Given the description of an element on the screen output the (x, y) to click on. 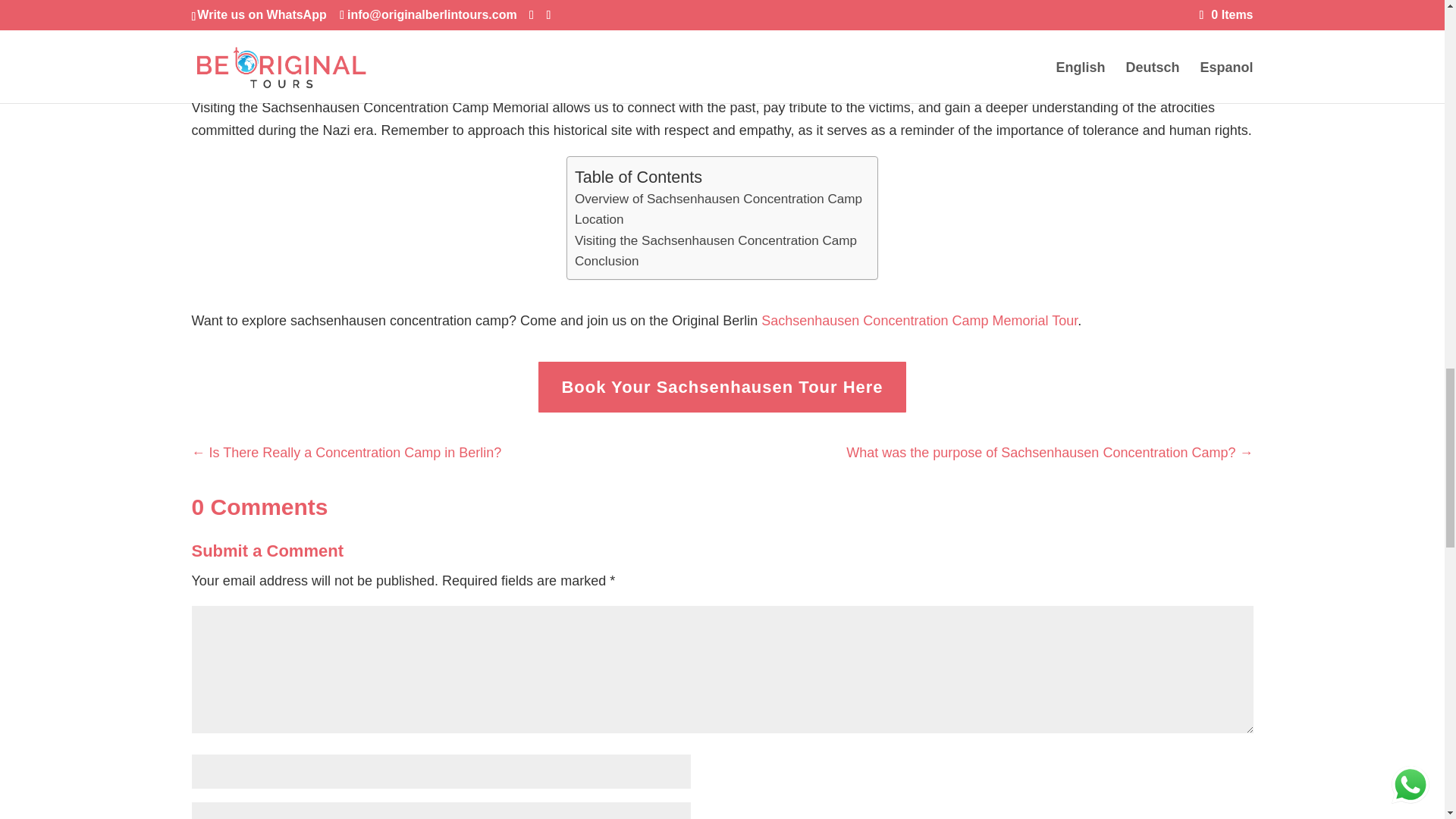
Overview of Sachsenhausen Concentration Camp (718, 199)
Book Your Sachsenhausen Tour Here (721, 386)
Visiting the Sachsenhausen Concentration Camp (716, 240)
Sachsenhausen Concentration Camp Memorial Tour (919, 320)
Location (599, 219)
Visiting the Sachsenhausen Concentration Camp (716, 240)
Overview of Sachsenhausen Concentration Camp (718, 199)
Conclusion (607, 260)
Conclusion (607, 260)
Location (599, 219)
